Given the description of an element on the screen output the (x, y) to click on. 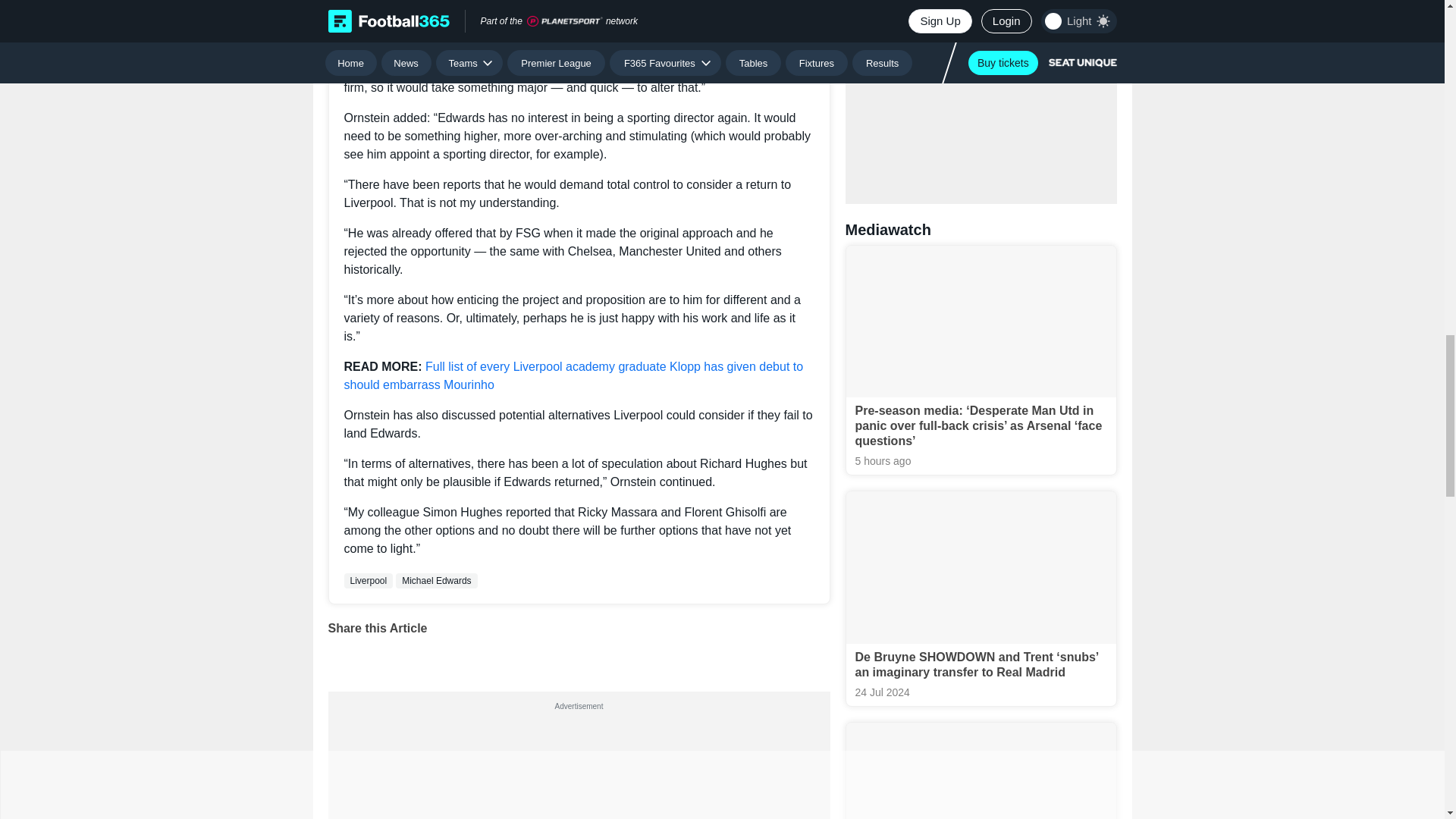
Vuukle Sharebar Widget (578, 654)
3rd party ad content (578, 766)
